Given the description of an element on the screen output the (x, y) to click on. 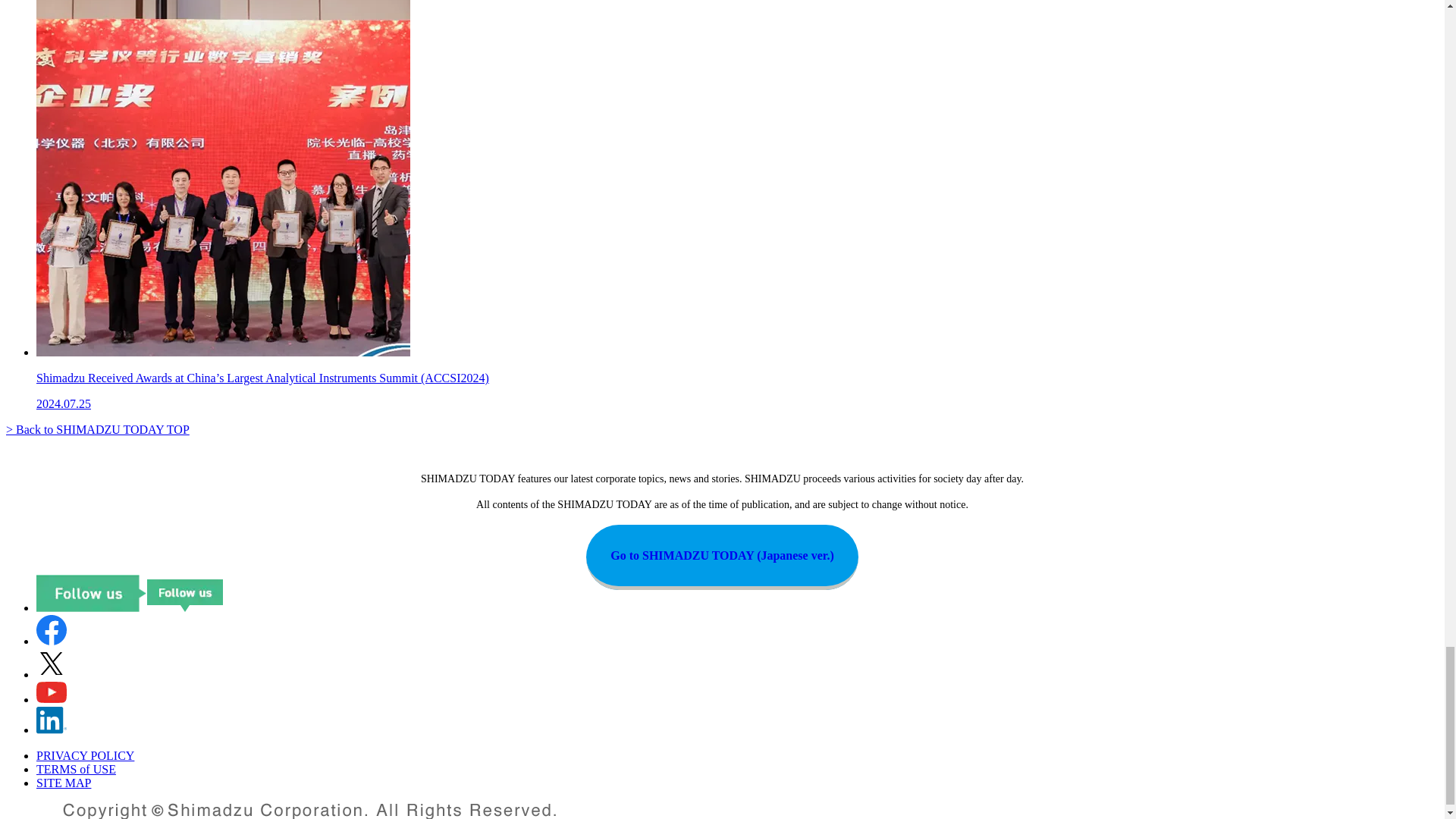
PRIVACY POLICY (84, 755)
TERMS of USE (76, 768)
SITE MAP (63, 782)
